Given the description of an element on the screen output the (x, y) to click on. 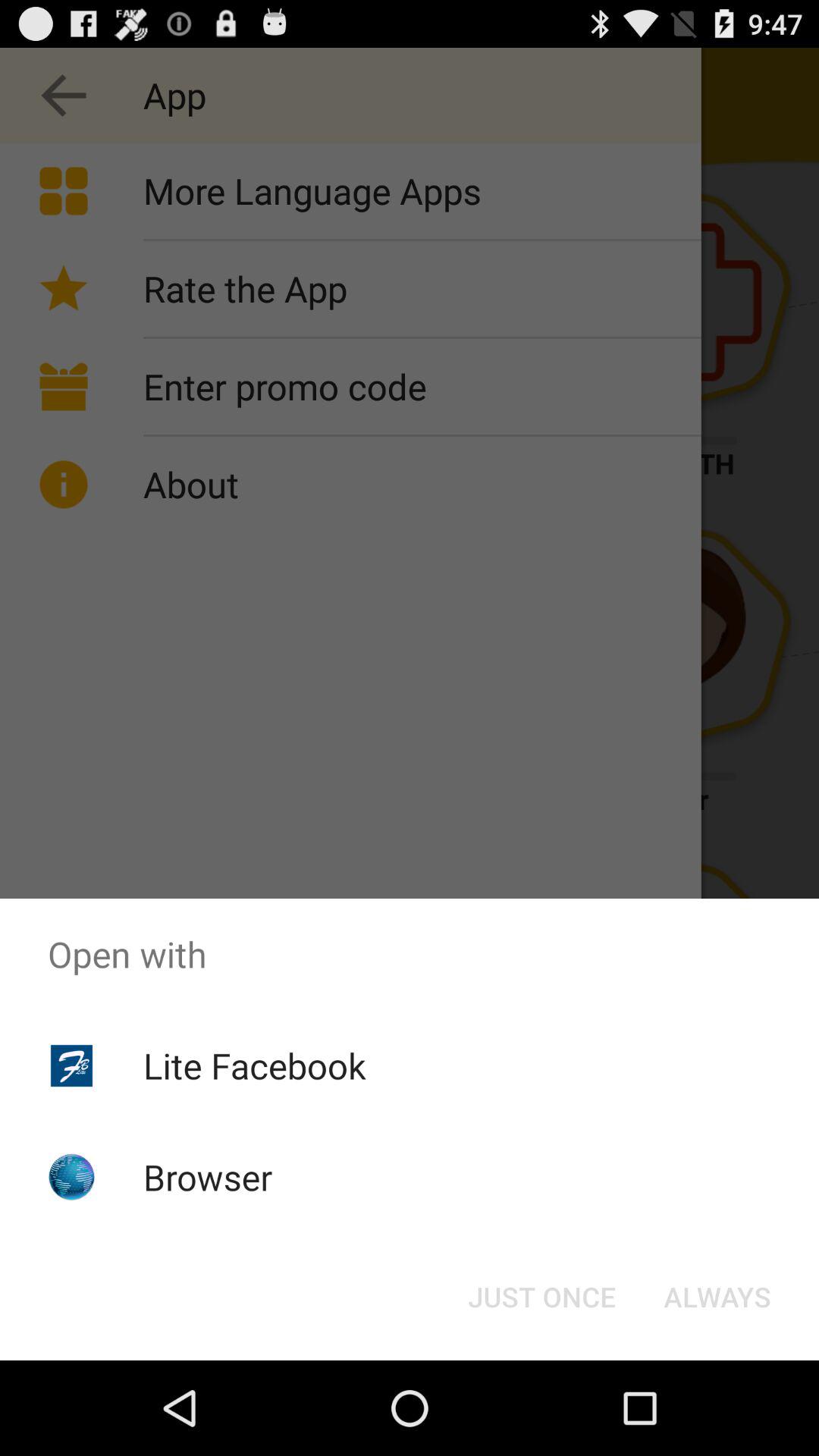
turn on the icon below the open with item (541, 1296)
